Given the description of an element on the screen output the (x, y) to click on. 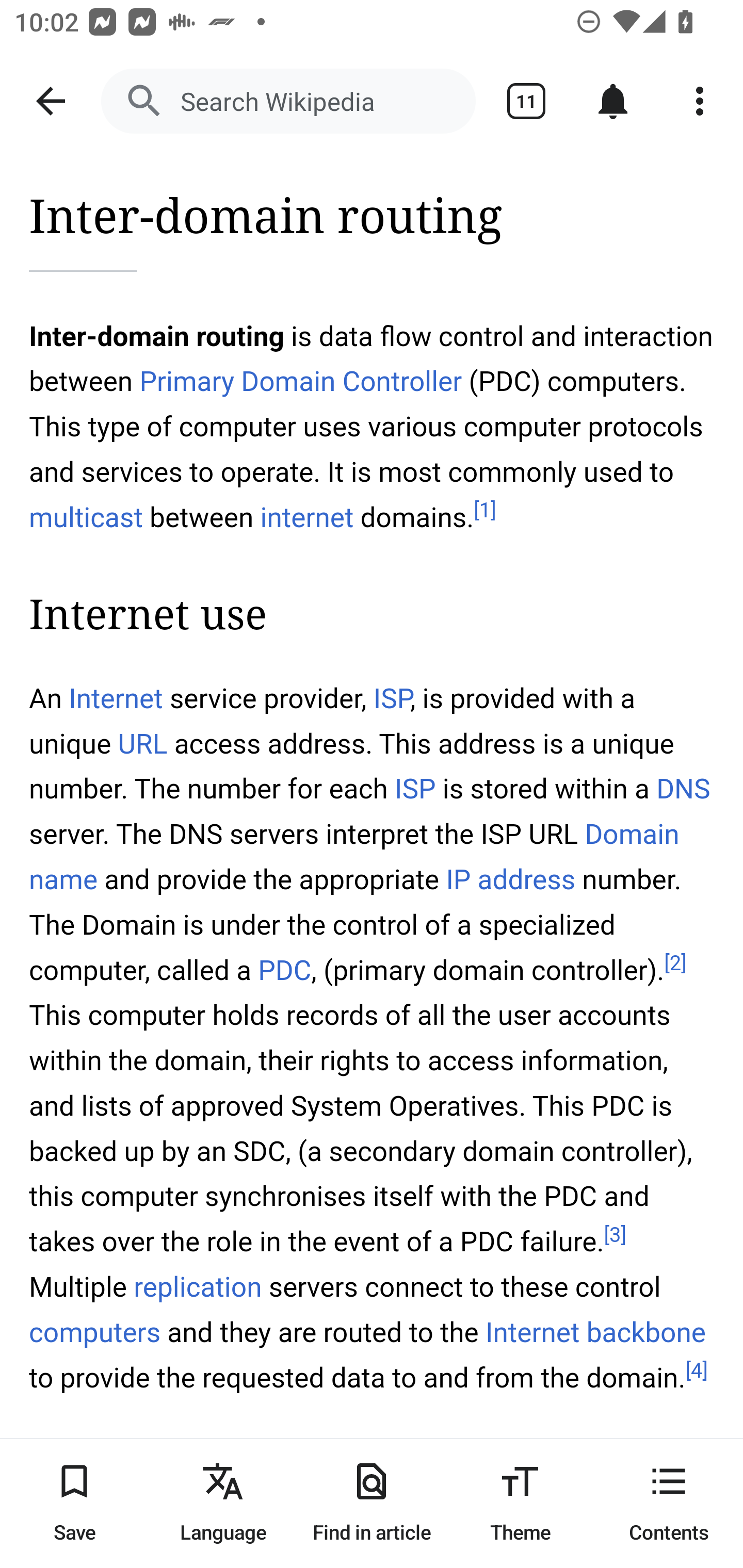
Show tabs 11 (525, 100)
Notifications (612, 100)
Navigate up (50, 101)
More options (699, 101)
Search Wikipedia (288, 100)
Primary Domain Controller (300, 381)
[] [ 1 ] (484, 510)
multicast (86, 517)
internet (307, 517)
Internet (116, 699)
ISP (391, 699)
URL (142, 744)
ISP (414, 789)
DNS (683, 789)
Domain name (354, 856)
IP address (509, 879)
[] [ 2 ] (675, 963)
PDC (284, 970)
[] [ 3 ] (615, 1233)
replication (198, 1287)
computers (95, 1332)
Internet backbone (595, 1332)
[] [ 4 ] (696, 1370)
Save (74, 1502)
Language (222, 1502)
Find in article (371, 1502)
Theme (519, 1502)
Contents (668, 1502)
